Given the description of an element on the screen output the (x, y) to click on. 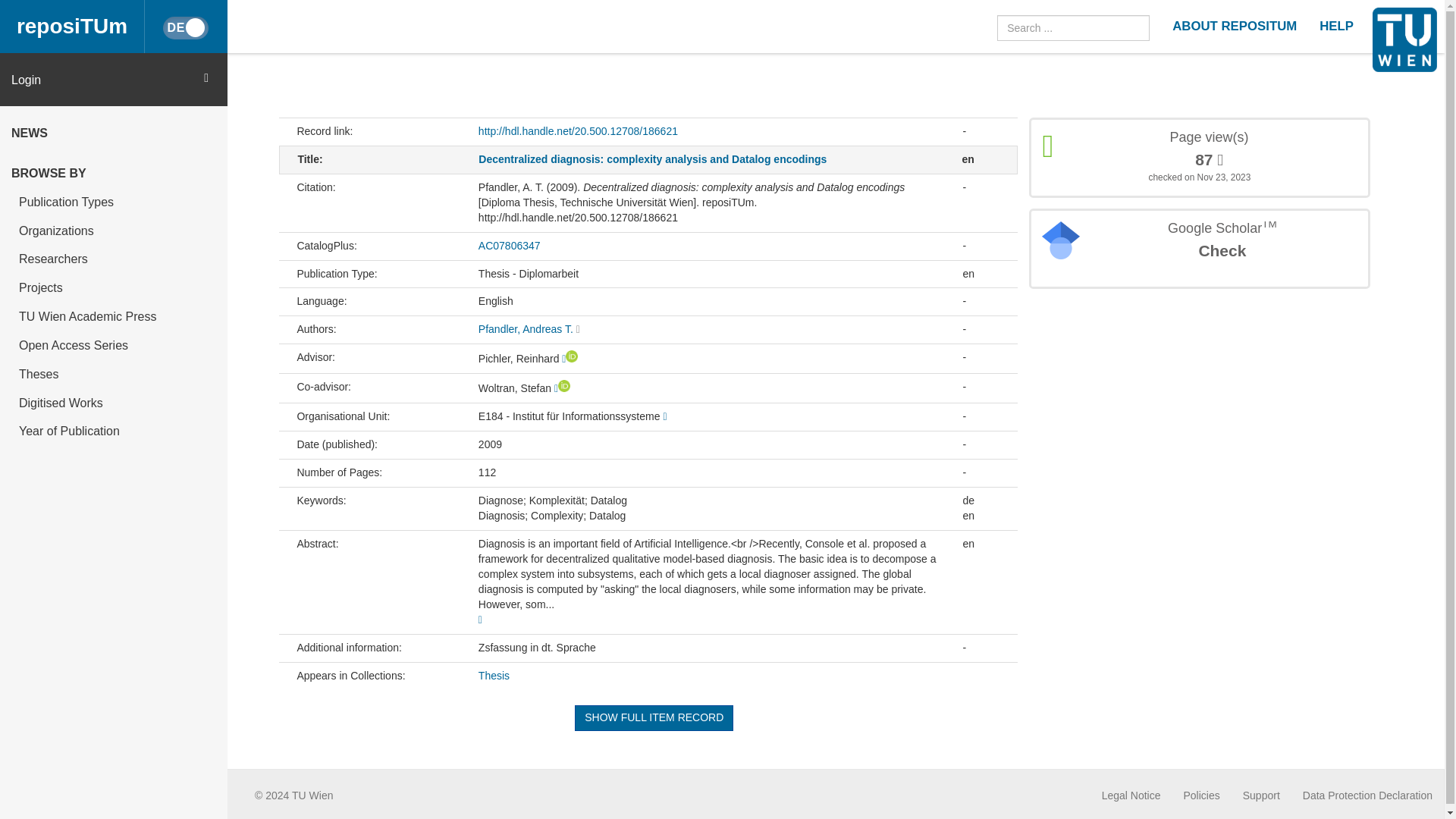
Policies (1201, 795)
Switch to German (185, 27)
BROWSE BY (114, 172)
Publication Types (114, 200)
AC07806347 (509, 245)
Projects (114, 286)
Data Protection Declaration (1367, 795)
HELP (1336, 26)
Theses (114, 372)
